Given the description of an element on the screen output the (x, y) to click on. 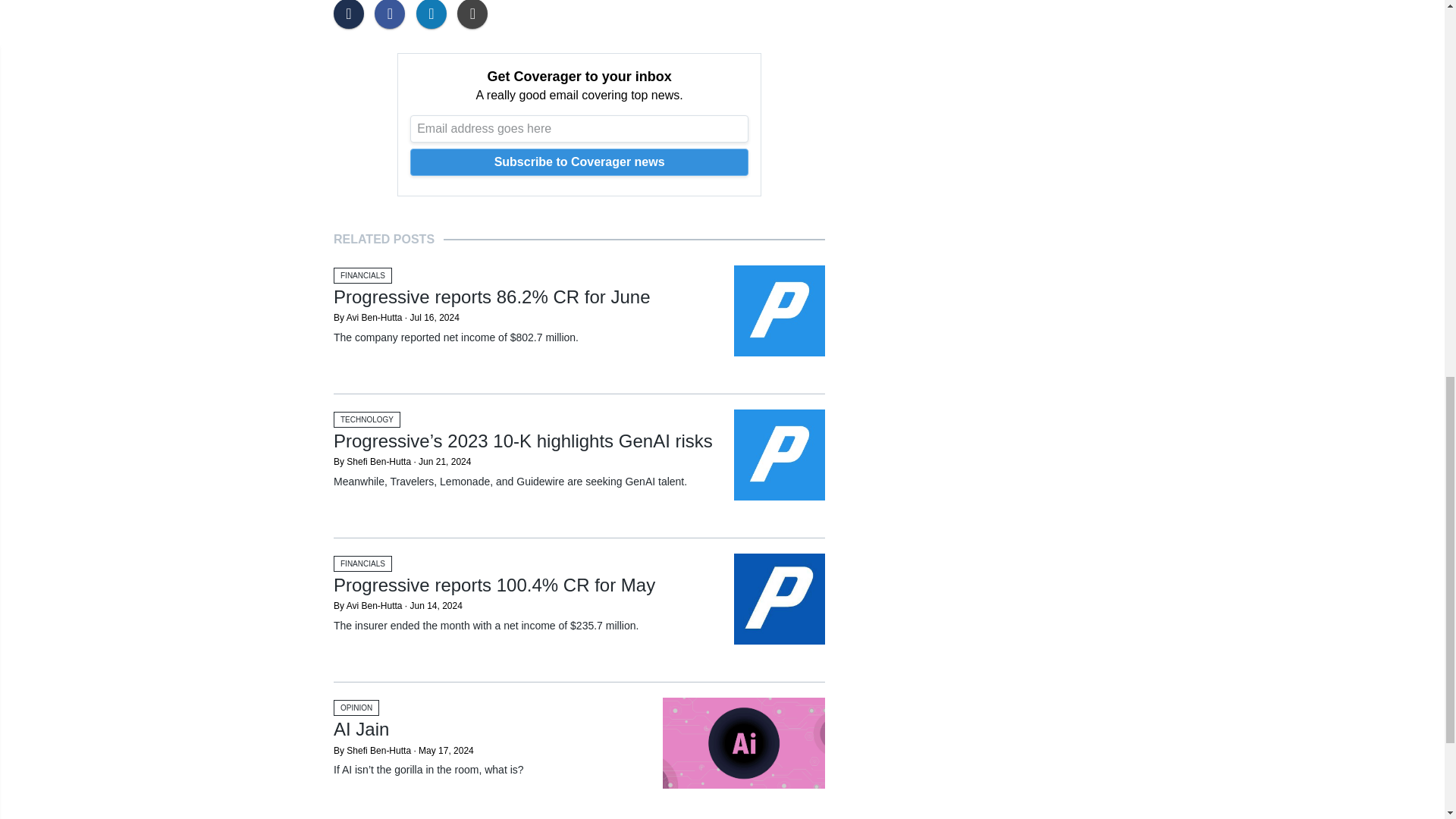
Share on Linkedin (435, 14)
Share on Facebook (393, 14)
Share on X (352, 14)
Share via Email (476, 14)
Subscribe to Coverager news (579, 162)
